Given the description of an element on the screen output the (x, y) to click on. 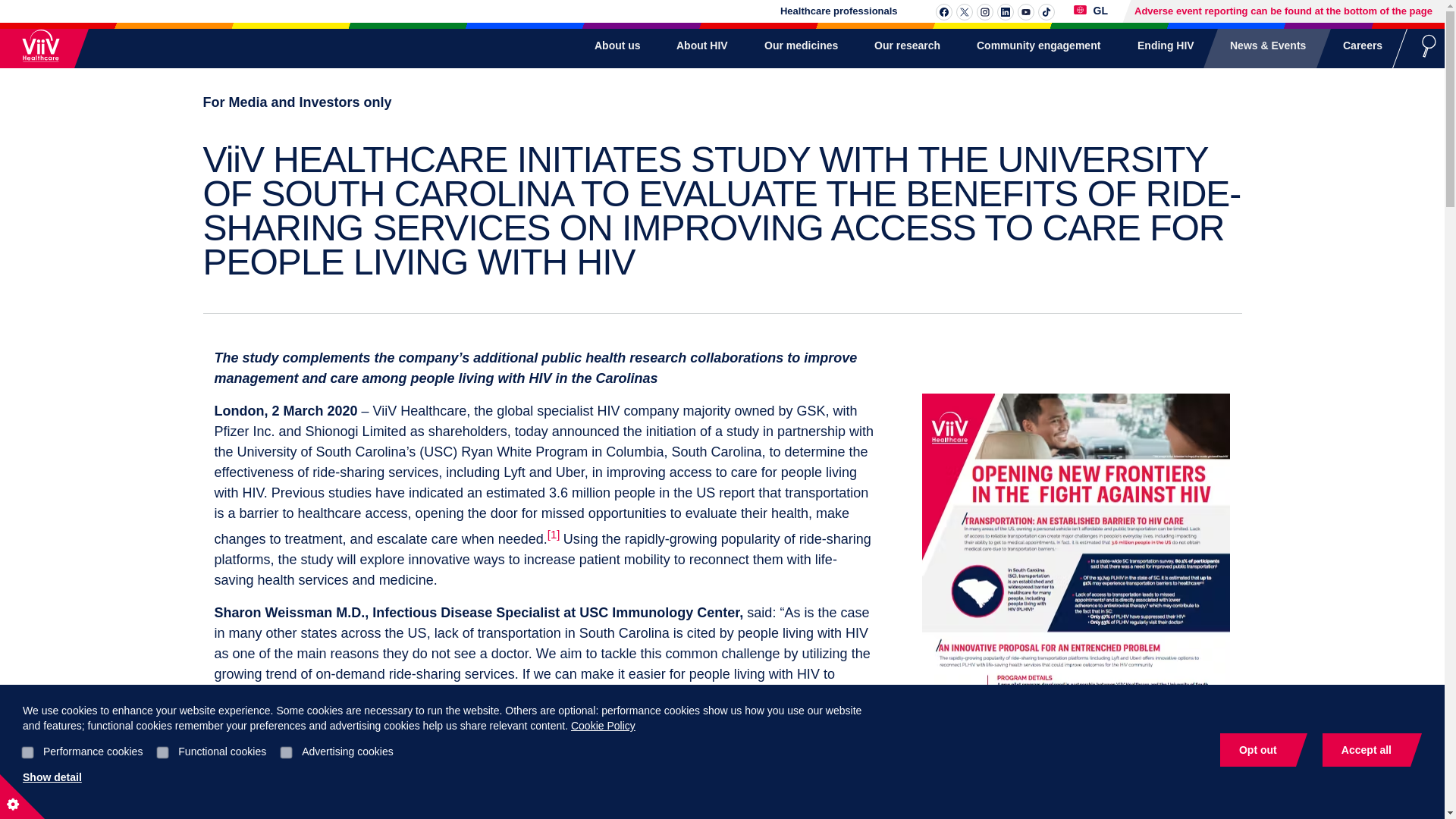
About us (608, 44)
YouTube (1025, 12)
Ending HIV (1157, 44)
Instagram (984, 12)
Twitter (964, 12)
LinkedIn (1005, 12)
on (26, 751)
on (162, 751)
Our research (898, 44)
Community engagement (1030, 44)
GL (1090, 10)
TikTok (1046, 12)
About HIV (693, 44)
Healthcare professionals (839, 10)
Facebook (944, 12)
